Given the description of an element on the screen output the (x, y) to click on. 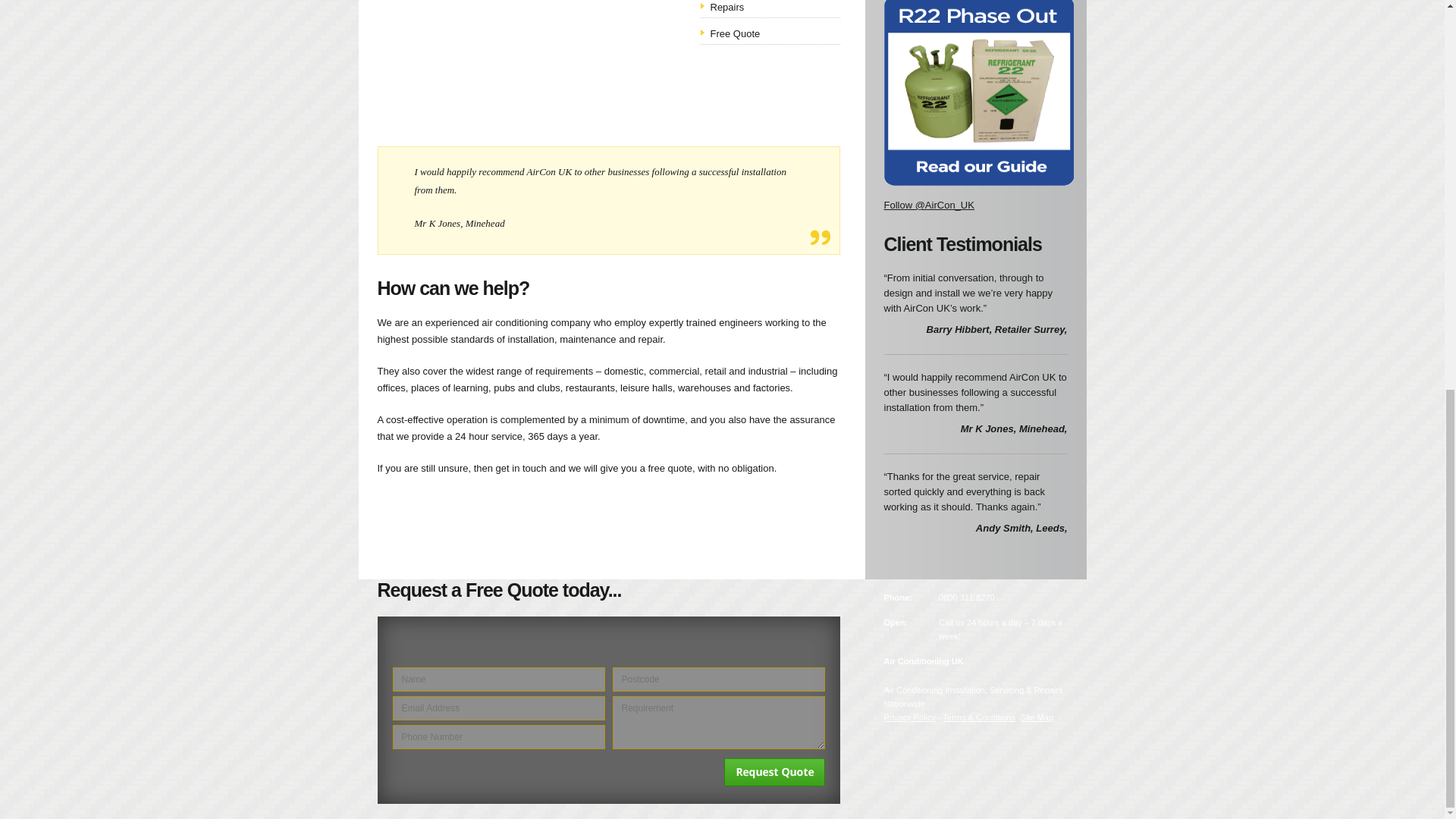
Privacy Policy (909, 716)
Repairs (727, 7)
Free Quote (735, 33)
Site Map (1036, 716)
